Given the description of an element on the screen output the (x, y) to click on. 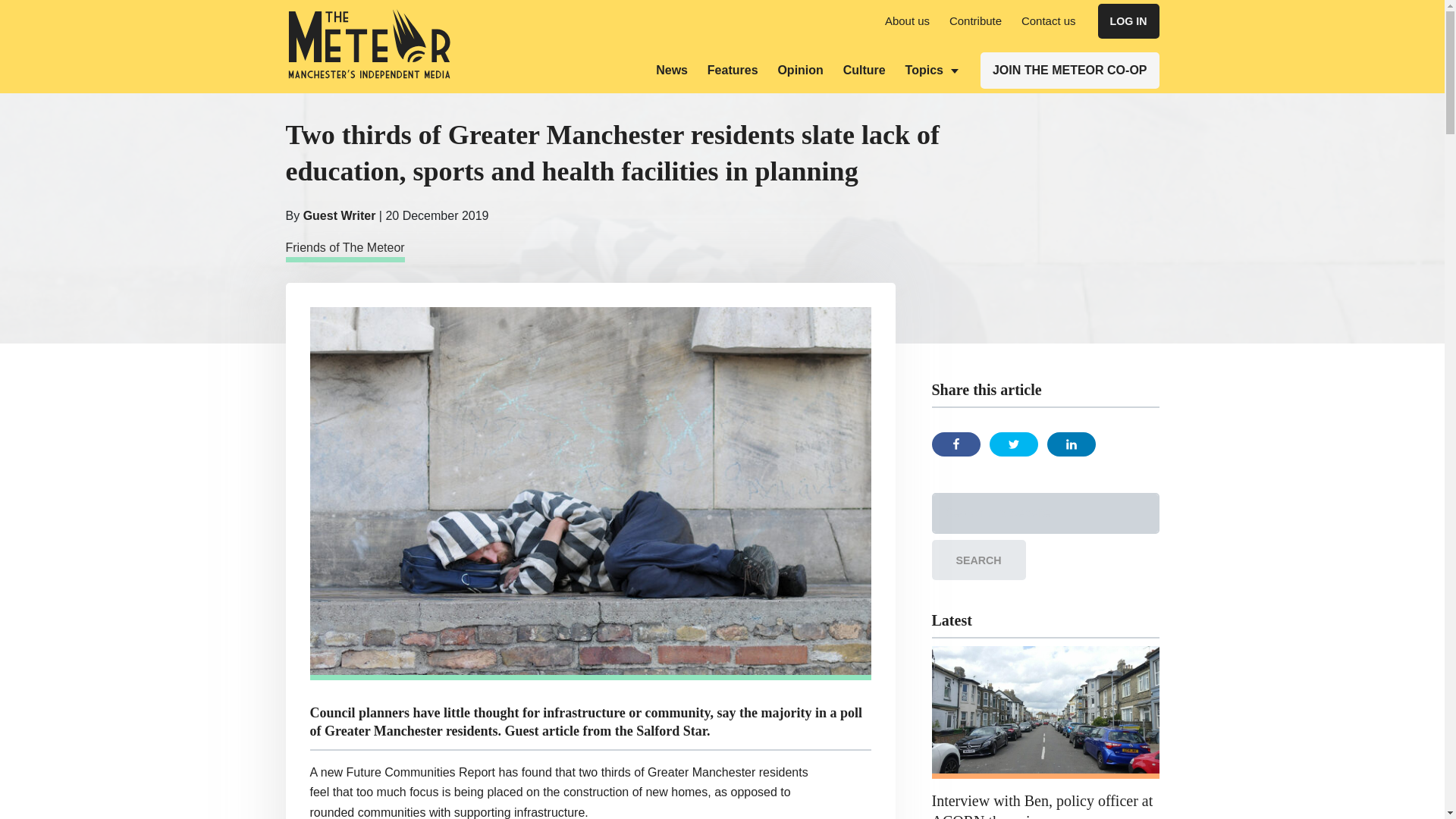
Opinion (799, 69)
Contact us (1048, 19)
JOIN THE METEOR CO-OP (1069, 69)
Friends of The Meteor (344, 250)
Contribute (975, 19)
LOG IN (1128, 21)
Guest Writer (338, 215)
About us (907, 19)
Share on Twitter (1012, 444)
News (671, 69)
